Given the description of an element on the screen output the (x, y) to click on. 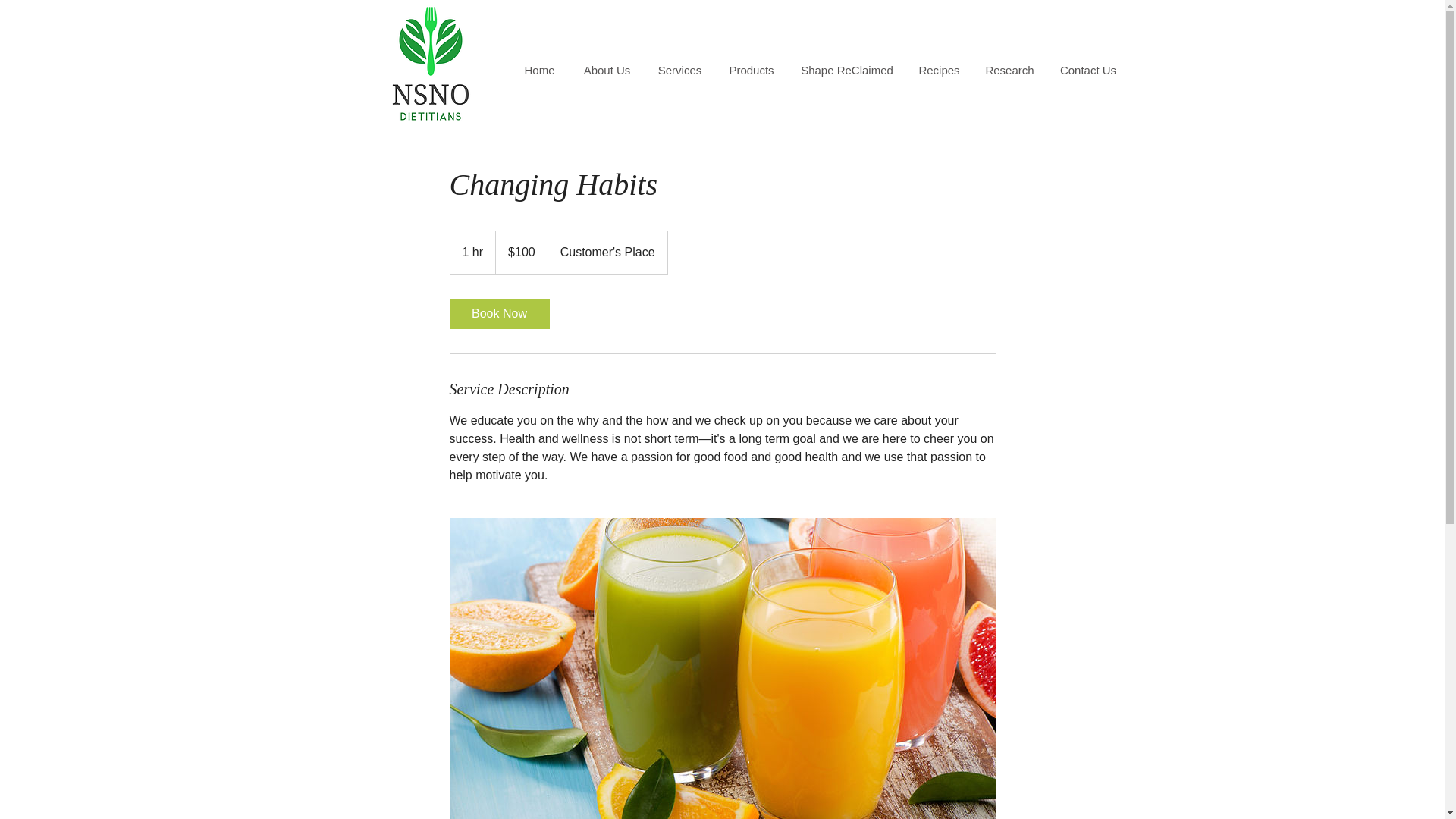
Home (539, 63)
Book Now (498, 313)
Shape ReClaimed (847, 63)
Services (679, 63)
Recipes (938, 63)
Contact Us (1087, 63)
About Us (607, 63)
Research (1009, 63)
Products (750, 63)
